Given the description of an element on the screen output the (x, y) to click on. 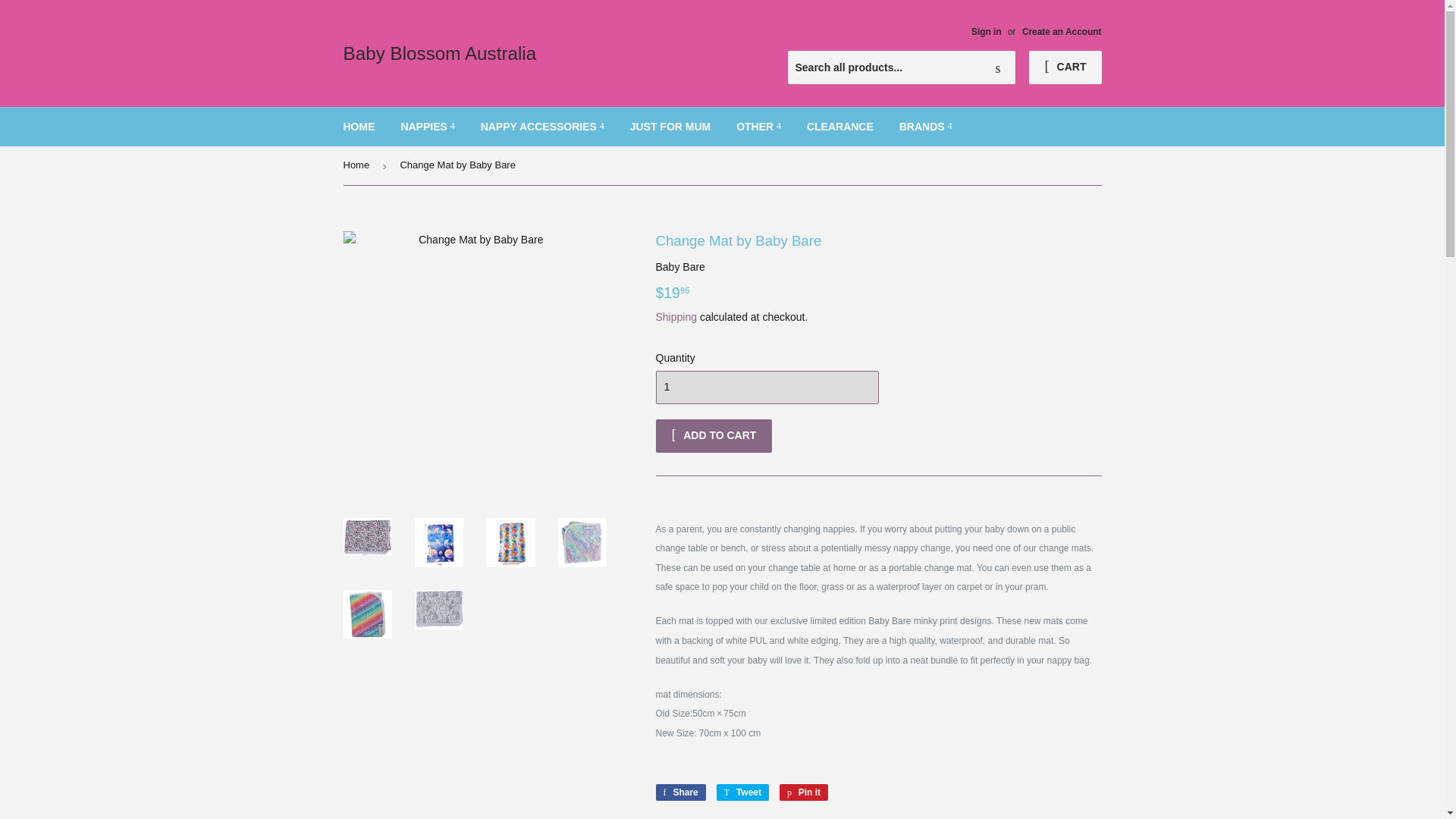
1 (766, 387)
Share on Facebook (679, 791)
Search (997, 68)
Create an Account (1062, 31)
Tweet on Twitter (742, 791)
CART (1064, 67)
Baby Blossom Australia (532, 53)
Sign in (986, 31)
Pin on Pinterest (803, 791)
